Given the description of an element on the screen output the (x, y) to click on. 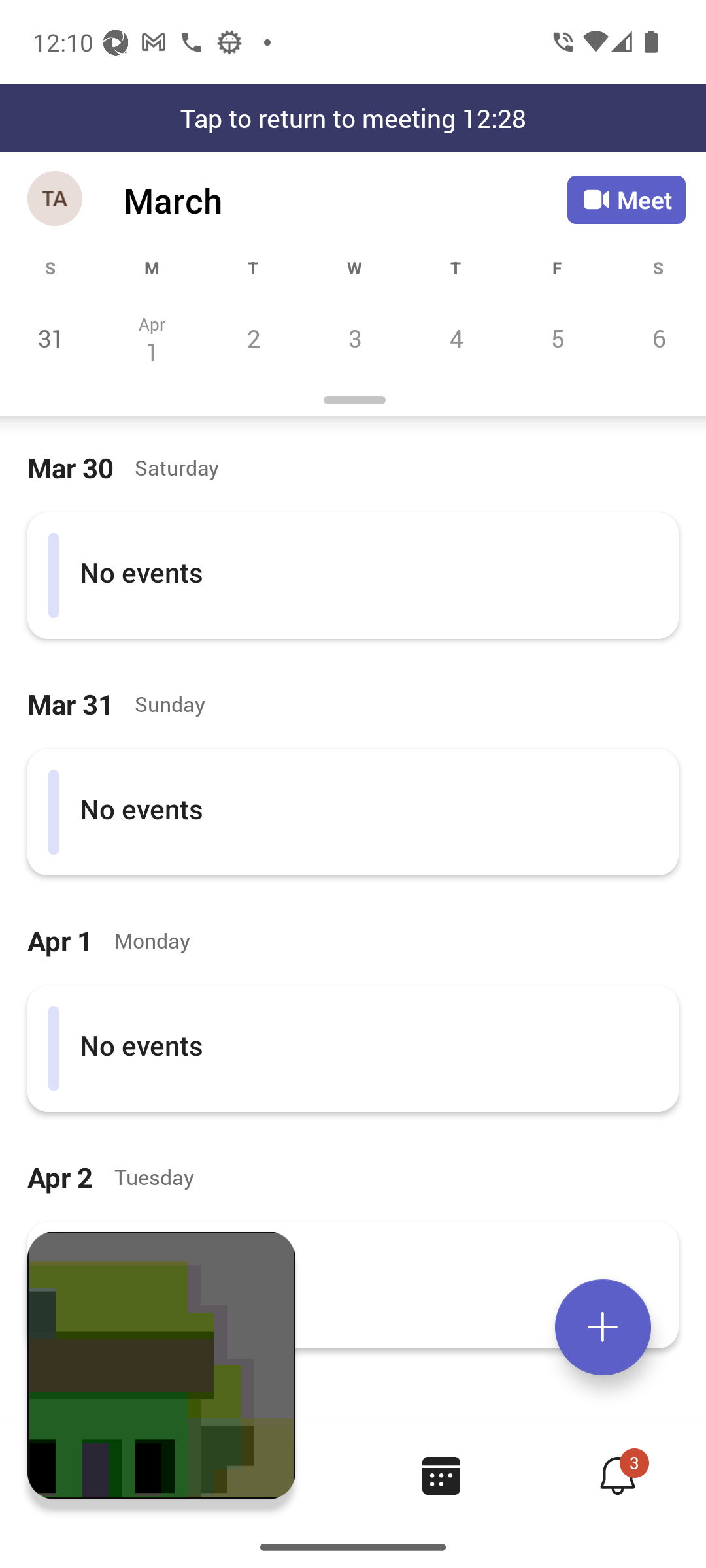
Tap to return to meeting 12:28 (353, 117)
Navigation (56, 199)
Meet Meet now or join with an ID (626, 199)
March March Calendar Agenda View (345, 199)
Sunday, March 31 31 (50, 337)
Monday, April 1 Apr 1 (151, 337)
Tuesday, April 2 2 (253, 337)
Wednesday, April 3 3 (354, 337)
Thursday, April 4 4 (455, 337)
Friday, April 5 5 (556, 337)
Saturday, April 6 6 (656, 337)
Expand meetings menu (602, 1327)
Calendar tab, 3 of 4 (441, 1475)
Activity tab,4 of 4, not selected, 3 new 3 (617, 1475)
